Given the description of an element on the screen output the (x, y) to click on. 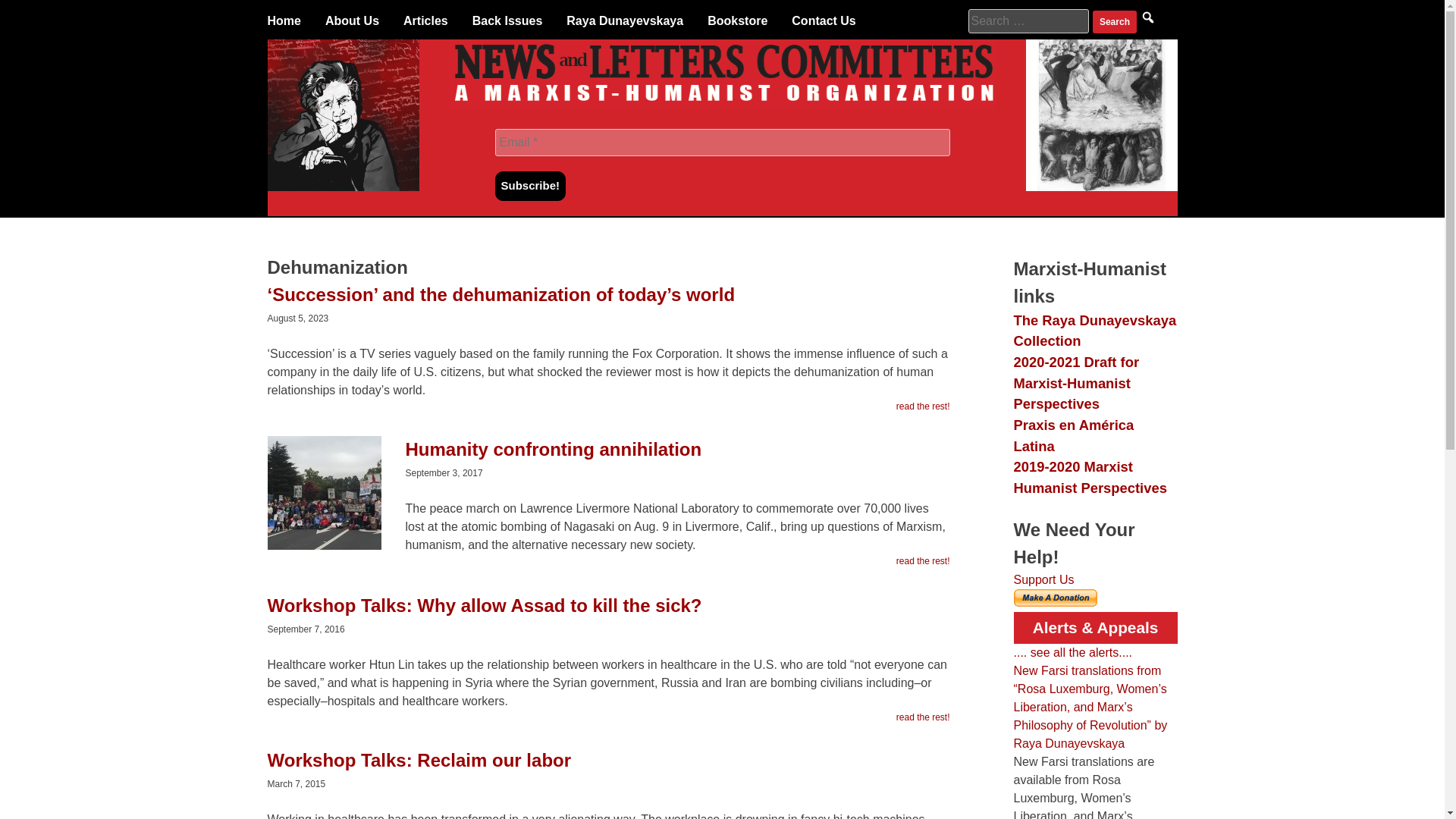
Home (282, 21)
Workshop Talks: Reclaim our labor (607, 767)
Subscribe! (530, 185)
Contact Us (824, 21)
Support Us (1043, 579)
Subscribe! (530, 185)
.... see all the alerts.... (1072, 652)
2020-2021 Draft for Marxist-Humanist Perspectives (1075, 382)
Email (722, 142)
Raya Dunayevskaya (624, 21)
The Raya Dunayevskaya Collection (1094, 330)
Articles (425, 21)
Search (1115, 21)
Workshop Talks: Why allow Assad to kill the sick? (607, 613)
